Given the description of an element on the screen output the (x, y) to click on. 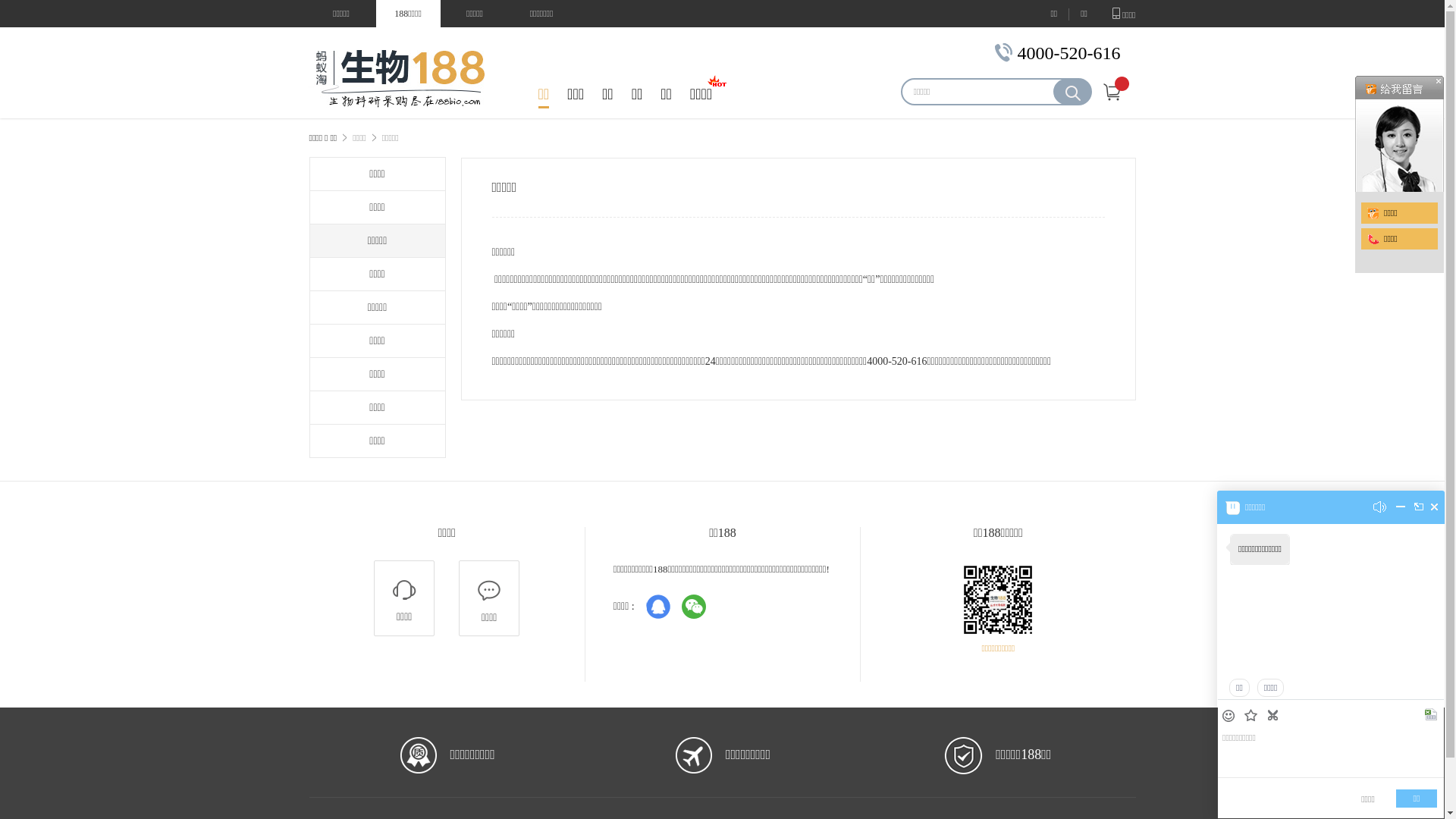
  Element type: text (1229, 715)
  Element type: text (1430, 715)
  Element type: text (1400, 509)
  Element type: text (1251, 716)
  Element type: text (1273, 715)
  Element type: text (1434, 506)
